Given the description of an element on the screen output the (x, y) to click on. 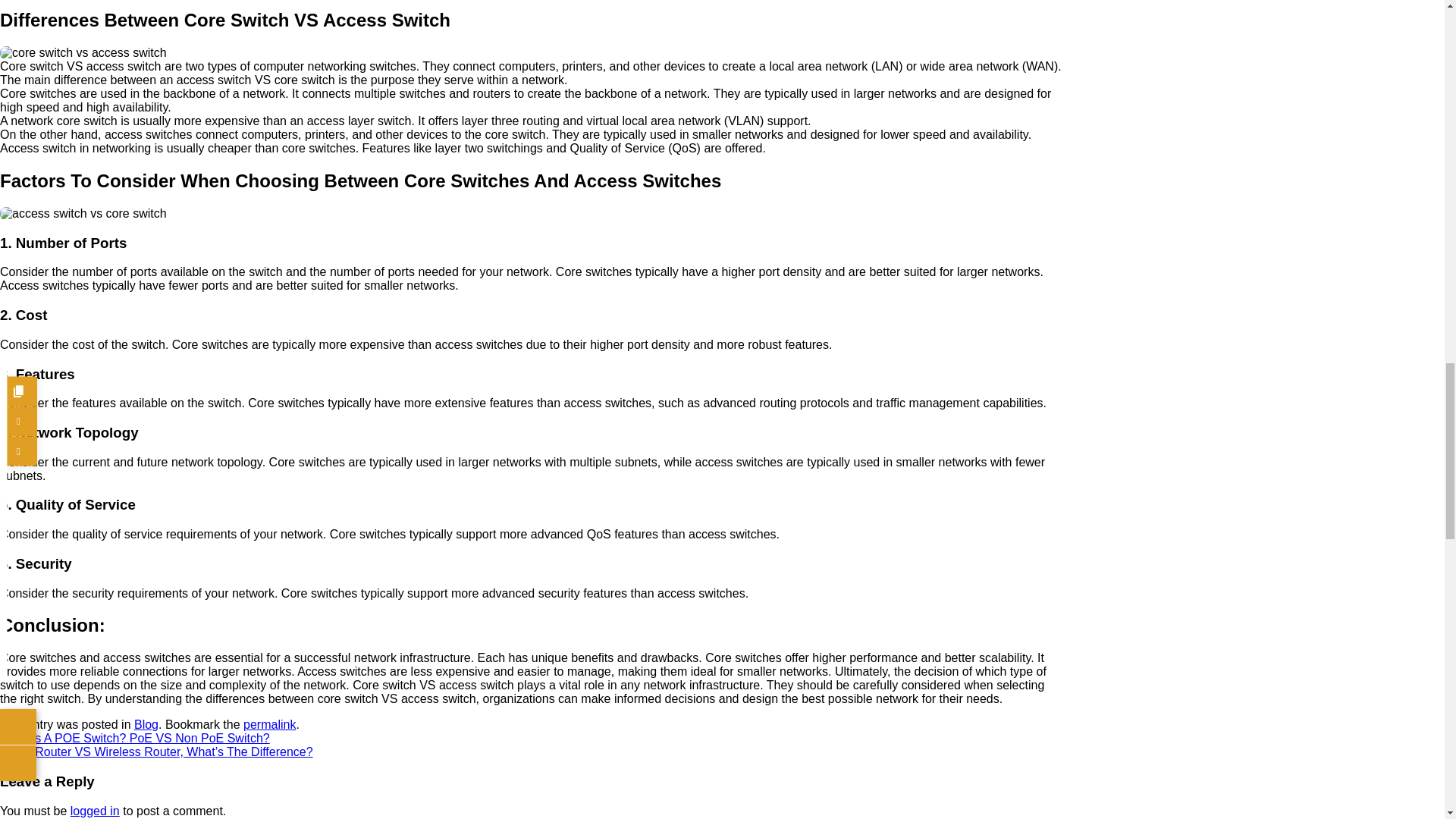
Permalink to Core Switch VS Access Switch (269, 724)
